Given the description of an element on the screen output the (x, y) to click on. 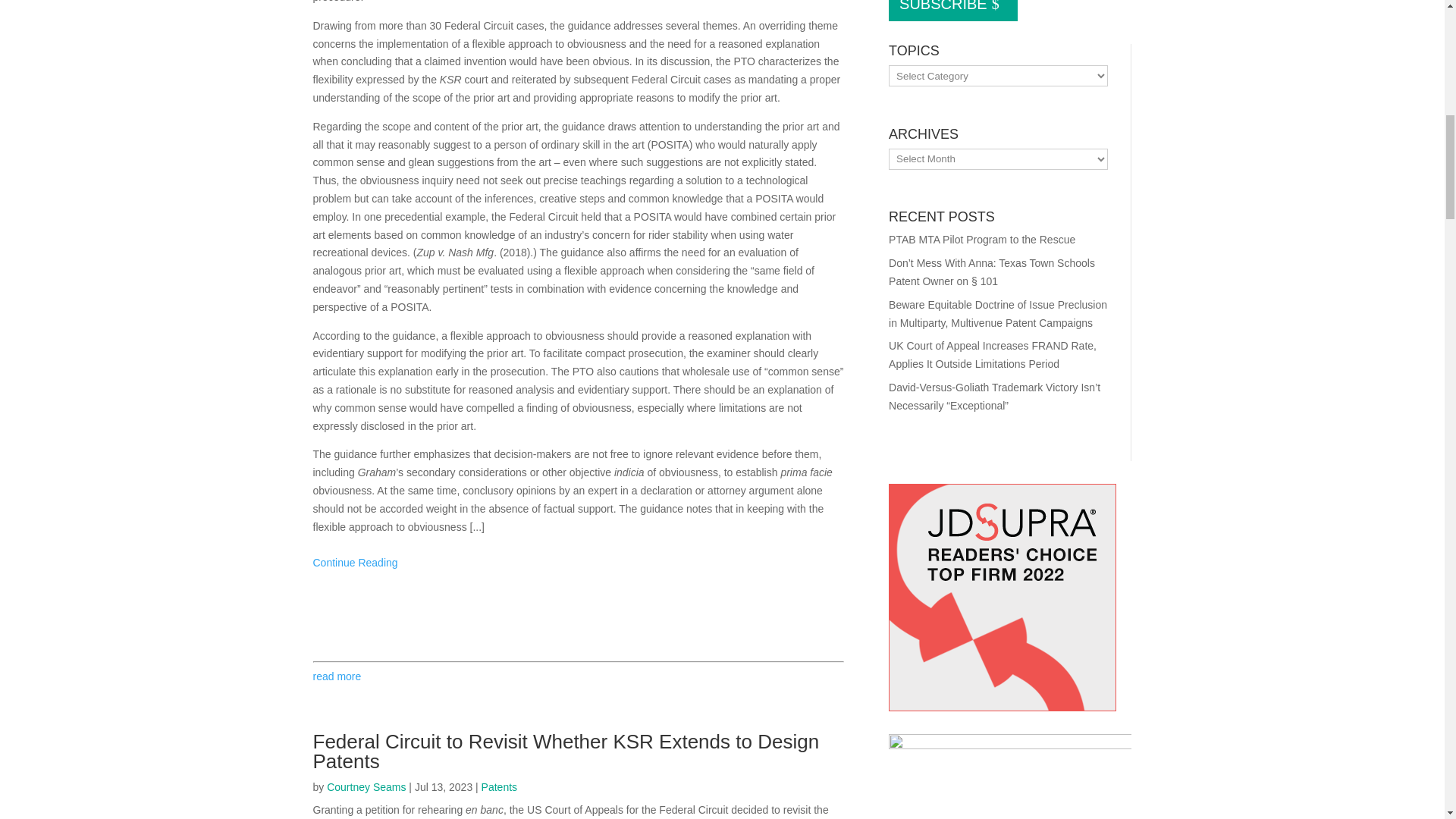
Share on X (384, 621)
Print (324, 621)
Share on LinkedIn (445, 621)
Share on Facebook (415, 621)
Posts by Courtney Seams (366, 787)
E-Mail (354, 621)
Continue Reading (355, 562)
